Given the description of an element on the screen output the (x, y) to click on. 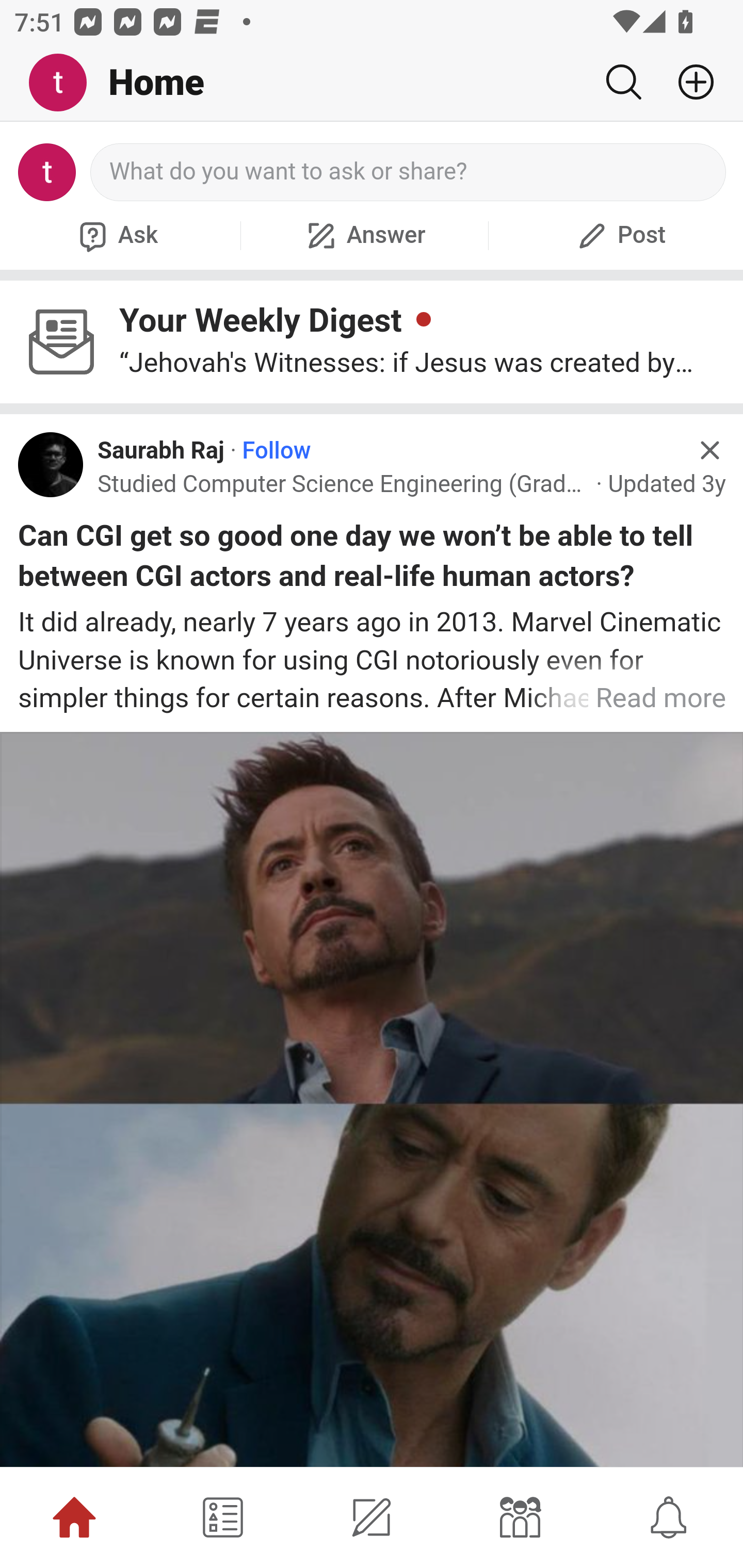
Me Home Search Add (371, 82)
Me (64, 83)
Search (623, 82)
Add (688, 82)
